Given the description of an element on the screen output the (x, y) to click on. 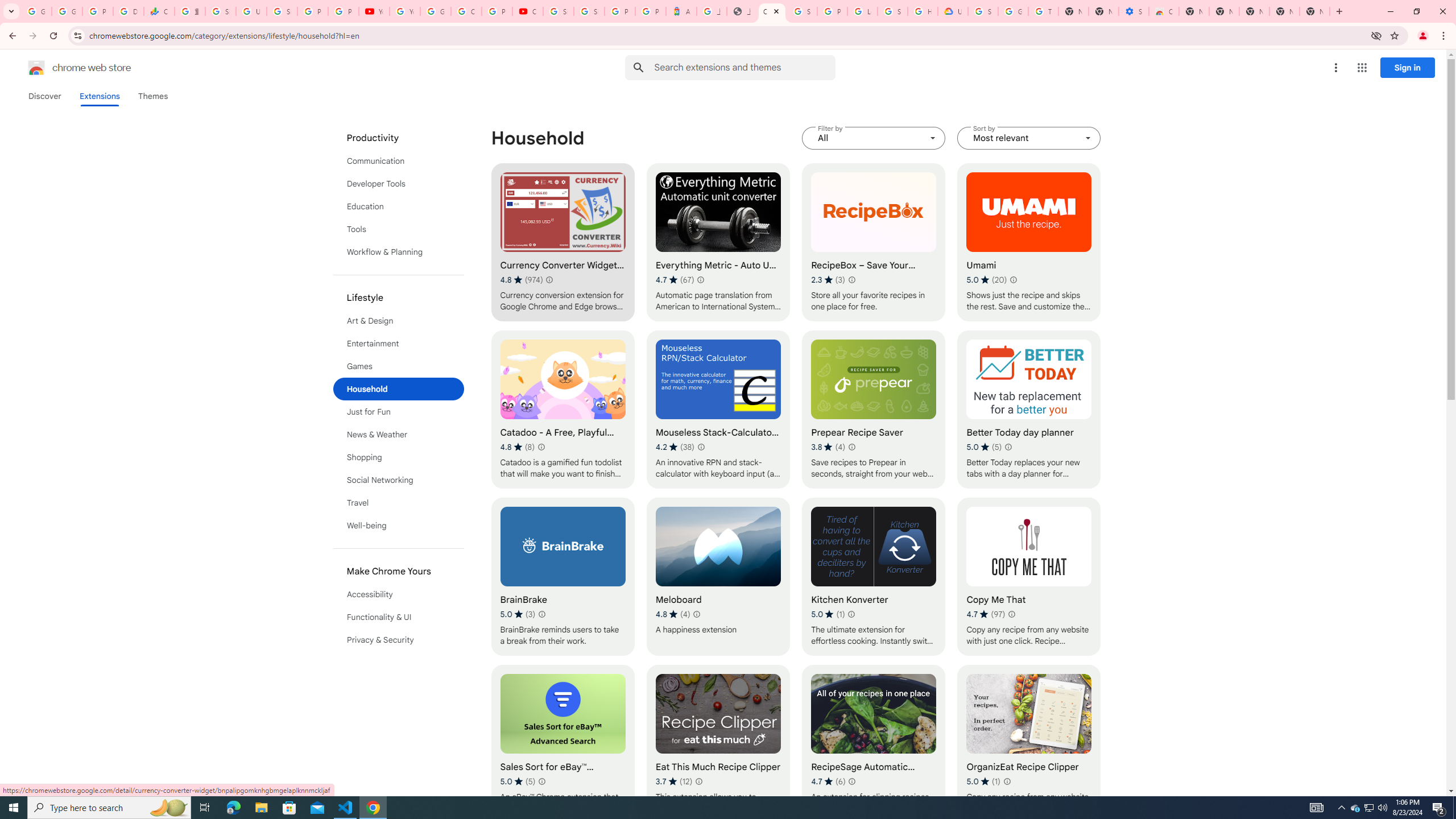
Chrome Web Store logo chrome web store (67, 67)
BrainBrake (562, 576)
Average rating 5 out of 5 stars. 3 ratings. (517, 613)
Google Account Help (434, 11)
Average rating 4.7 out of 5 stars. 97 ratings. (986, 613)
Privacy Checkup (343, 11)
Chrome Web Store logo (36, 67)
Accessibility (398, 594)
Average rating 3.8 out of 5 stars. 4 ratings. (827, 446)
